Given the description of an element on the screen output the (x, y) to click on. 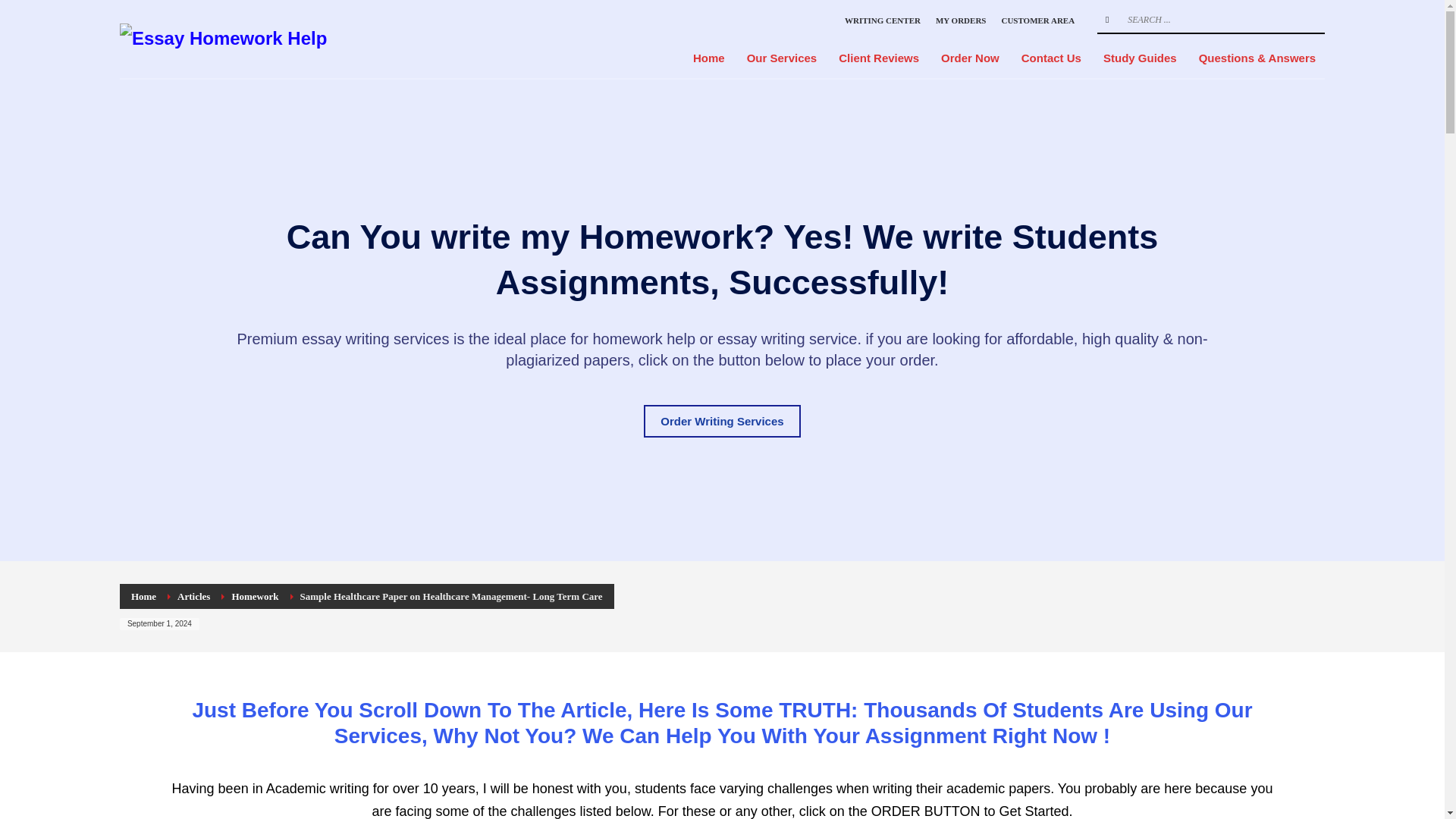
Click me (721, 420)
Order Writing Services (721, 420)
Homework (254, 595)
Home (143, 595)
Articles (193, 595)
Homework Help (222, 38)
MY ORDERS (961, 20)
CUSTOMER AREA (1037, 20)
Study Guides (1140, 57)
Our Services (782, 57)
